Given the description of an element on the screen output the (x, y) to click on. 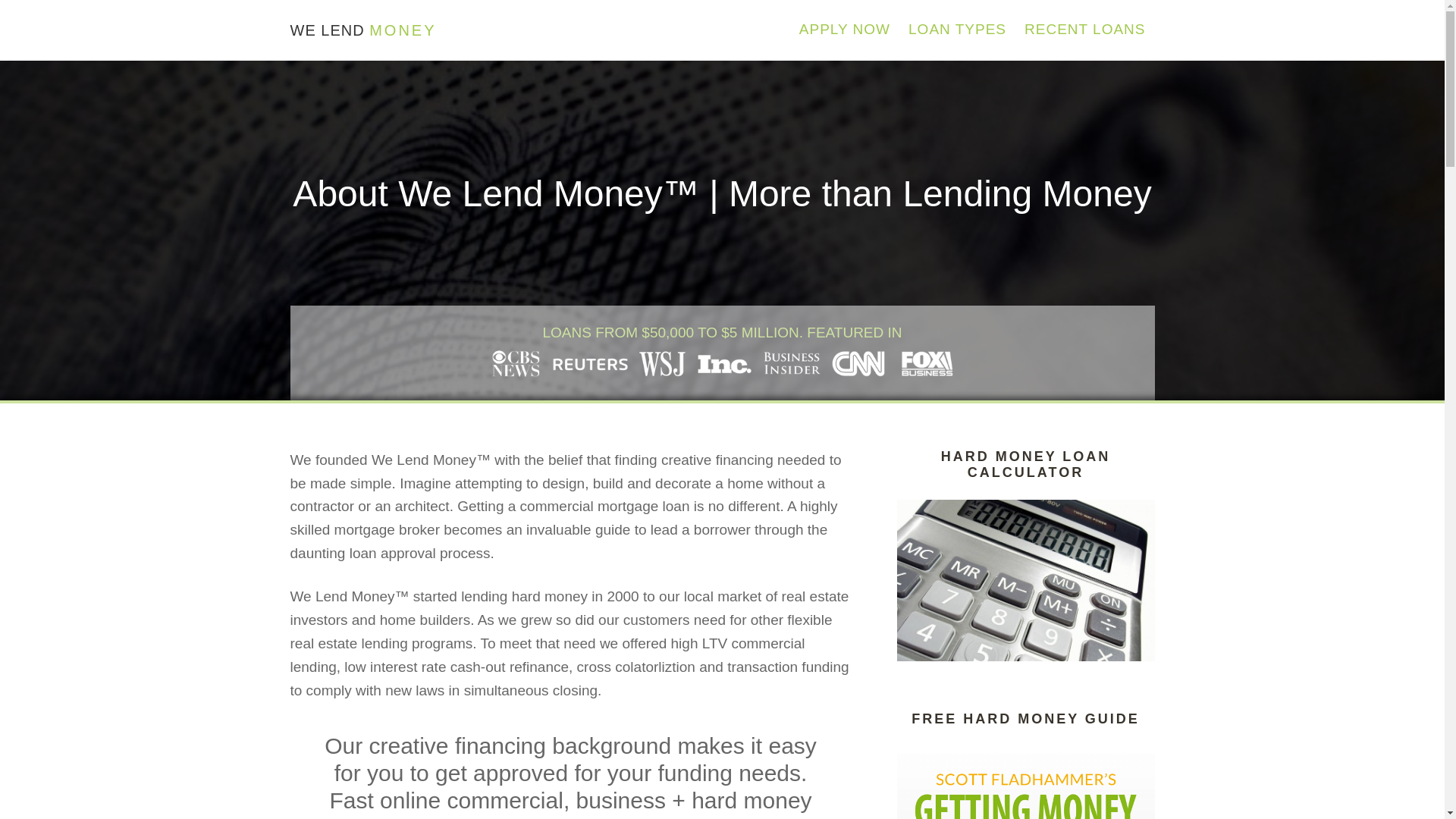
LOAN TYPES (956, 29)
APPLY NOW (844, 29)
RECENT LOANS (1084, 29)
WE LEND MONEY (362, 30)
